Given the description of an element on the screen output the (x, y) to click on. 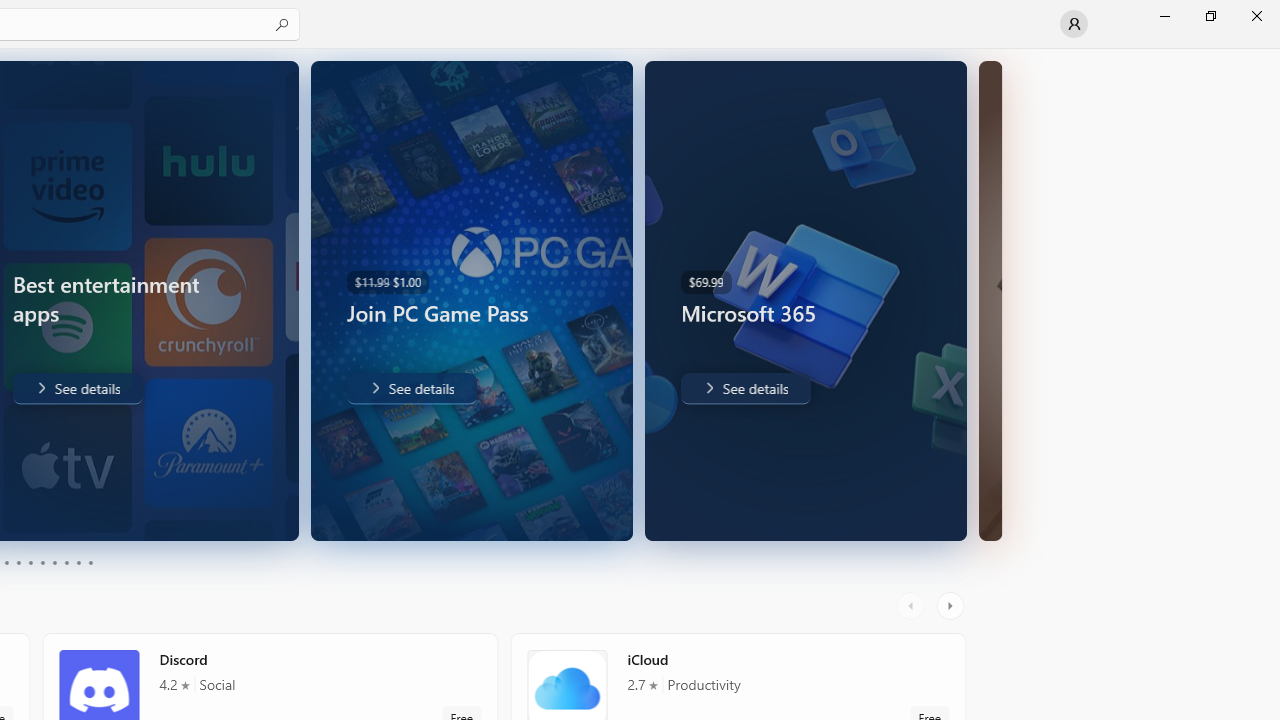
Minimize Microsoft Store (1164, 15)
Page 5 (29, 562)
